Given the description of an element on the screen output the (x, y) to click on. 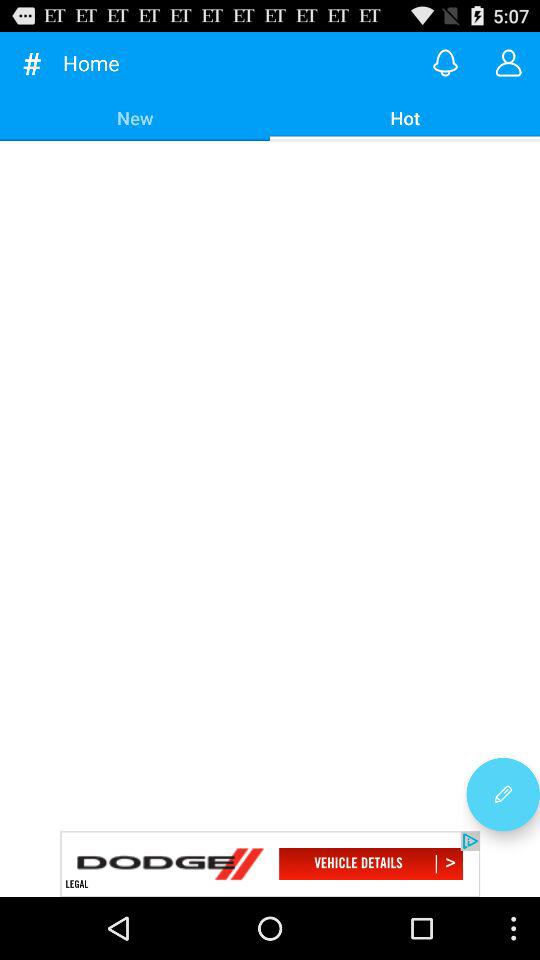
notification icon (445, 62)
